Given the description of an element on the screen output the (x, y) to click on. 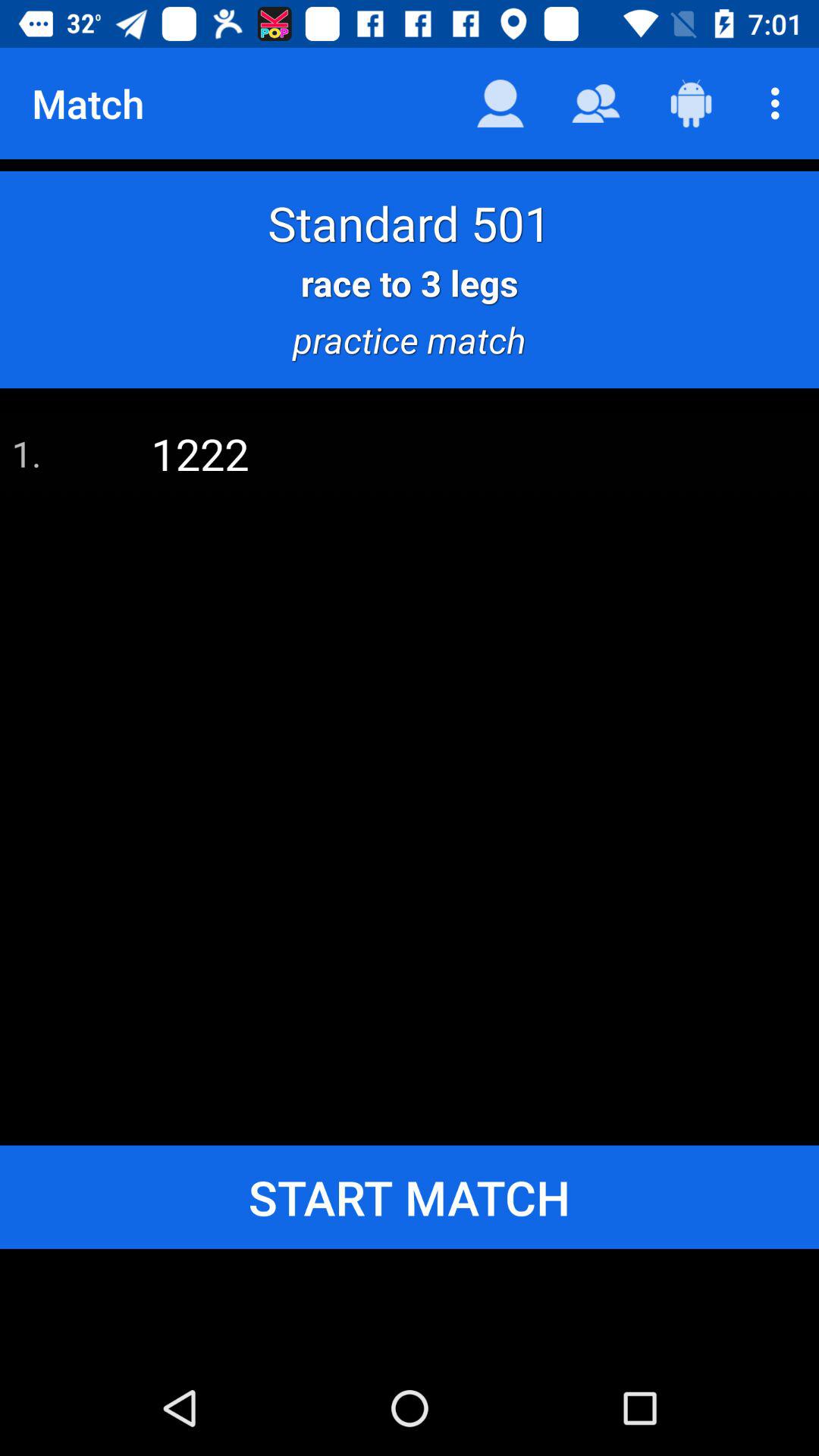
click the app next to match item (500, 103)
